Given the description of an element on the screen output the (x, y) to click on. 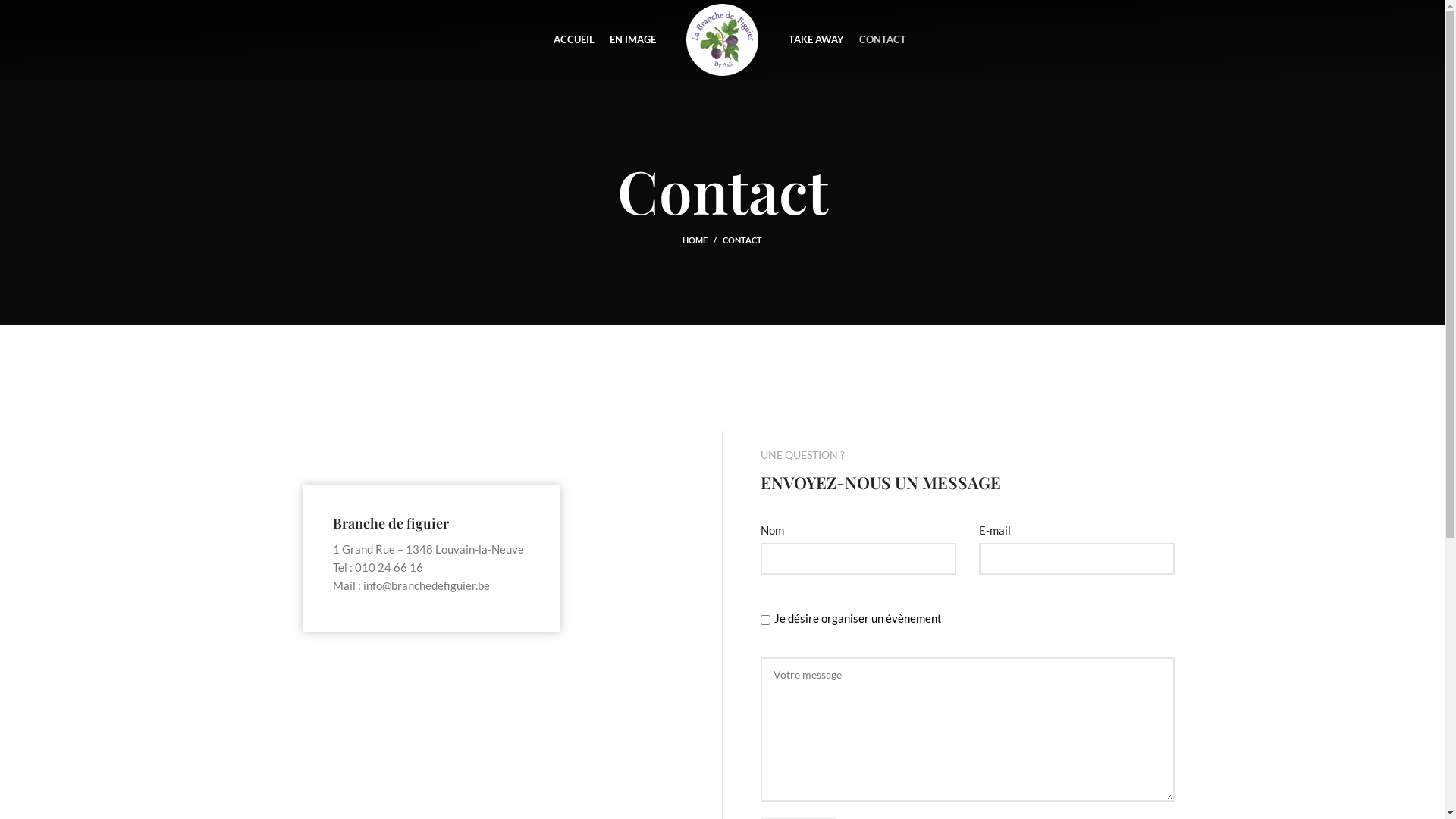
UX-W&D Element type: text (351, 794)
Livraison Element type: text (755, 597)
Renonciation Element type: text (765, 649)
Instagram Element type: text (1065, 624)
RGPD Element type: text (748, 676)
TAKE AWAY Element type: text (816, 39)
CONTACT Element type: text (882, 39)
HOME Element type: text (702, 240)
ACCUEIL Element type: text (573, 39)
En image Element type: text (909, 624)
Accueil Element type: text (905, 597)
Take away Element type: text (911, 649)
Contact Element type: text (1061, 649)
EN IMAGE Element type: text (632, 39)
Facebook Element type: text (1065, 597)
